Given the description of an element on the screen output the (x, y) to click on. 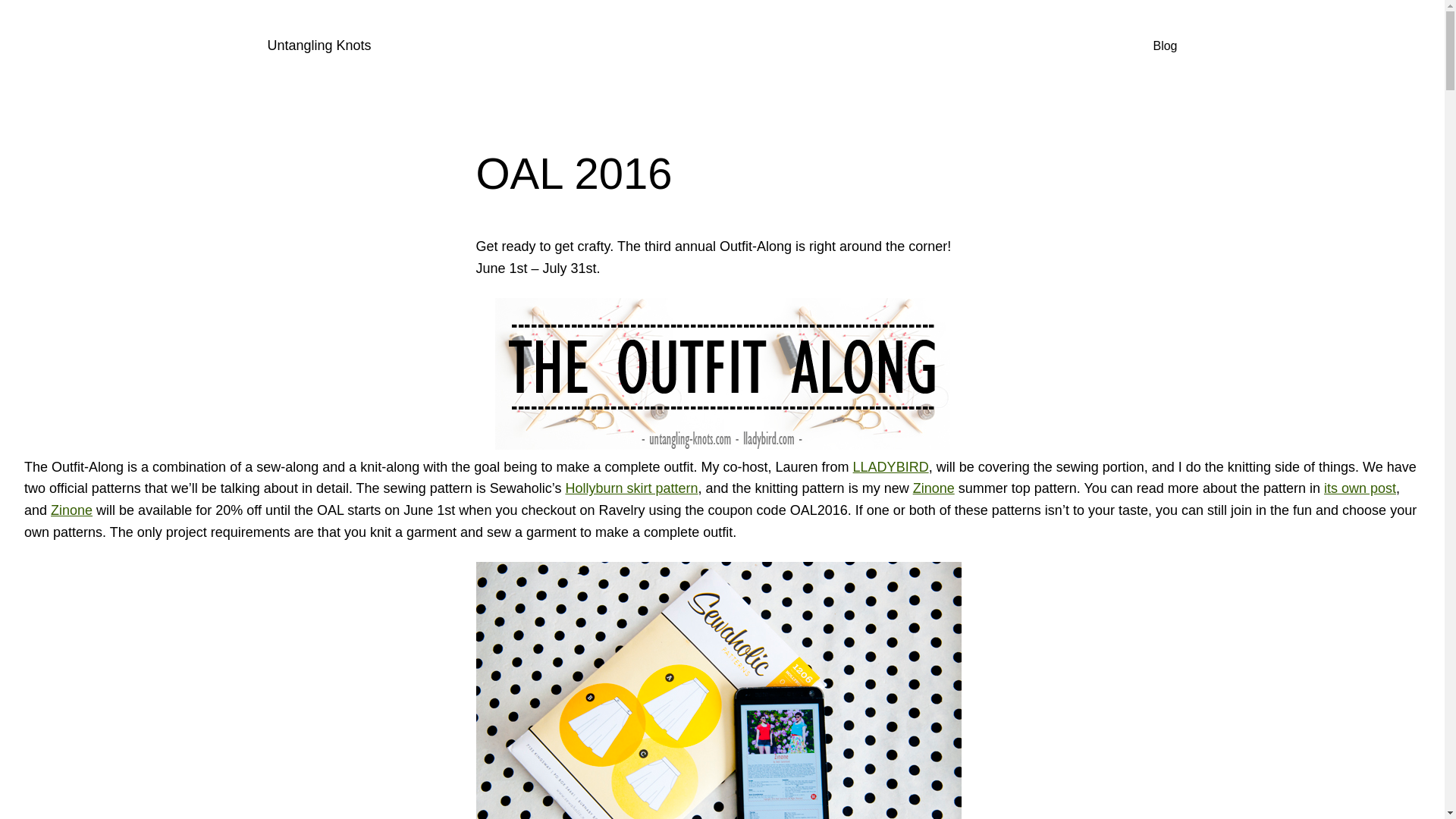
LLADYBIRD (890, 467)
Zinone (71, 509)
Untangling Knots (318, 45)
Blog (1164, 46)
its own post (1359, 488)
Hollyburn skirt pattern (630, 488)
Zinone (933, 488)
